Given the description of an element on the screen output the (x, y) to click on. 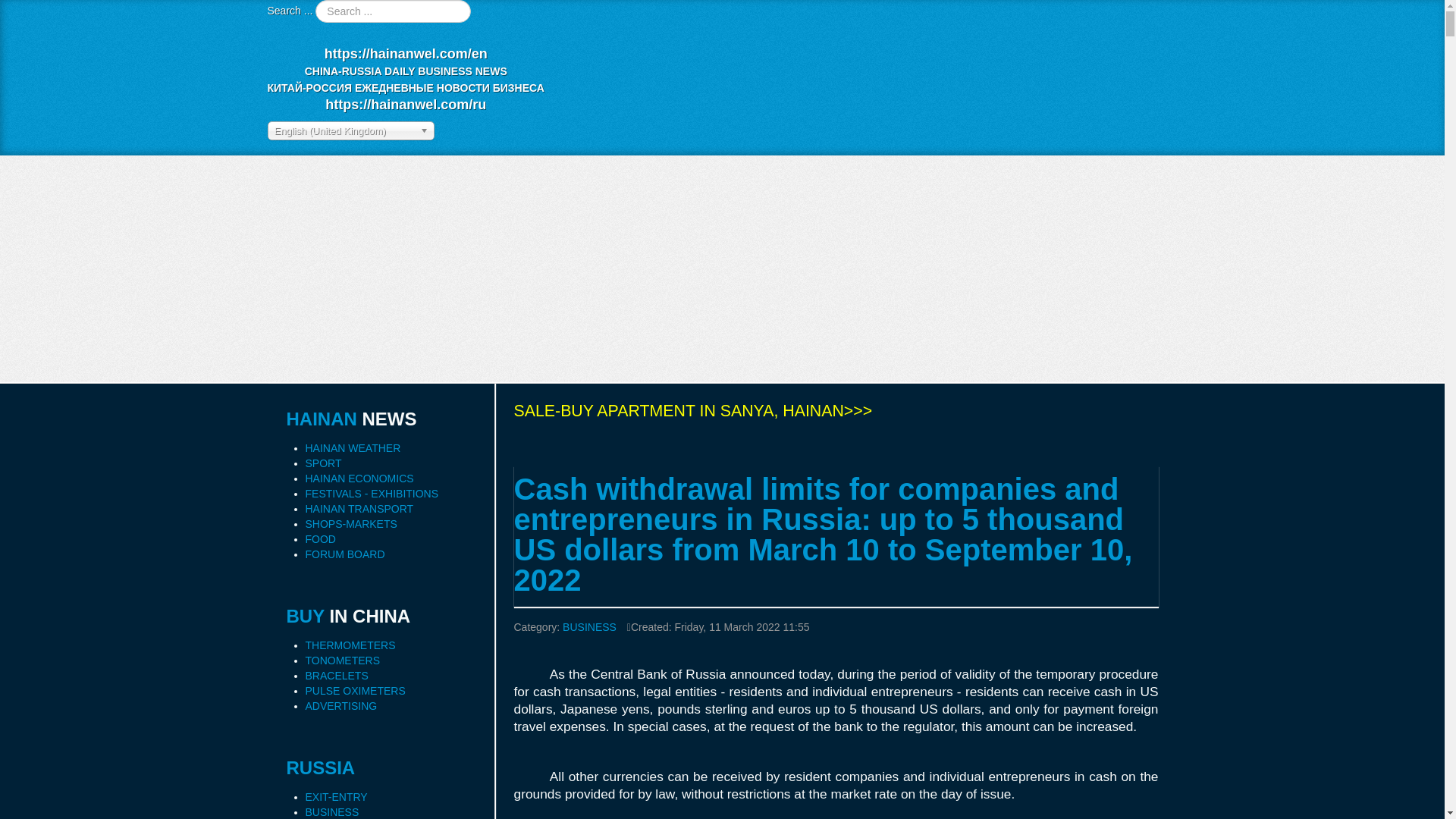
BUSINESS (588, 626)
HAINAN WEATHER (352, 448)
SPORT (322, 463)
